Given the description of an element on the screen output the (x, y) to click on. 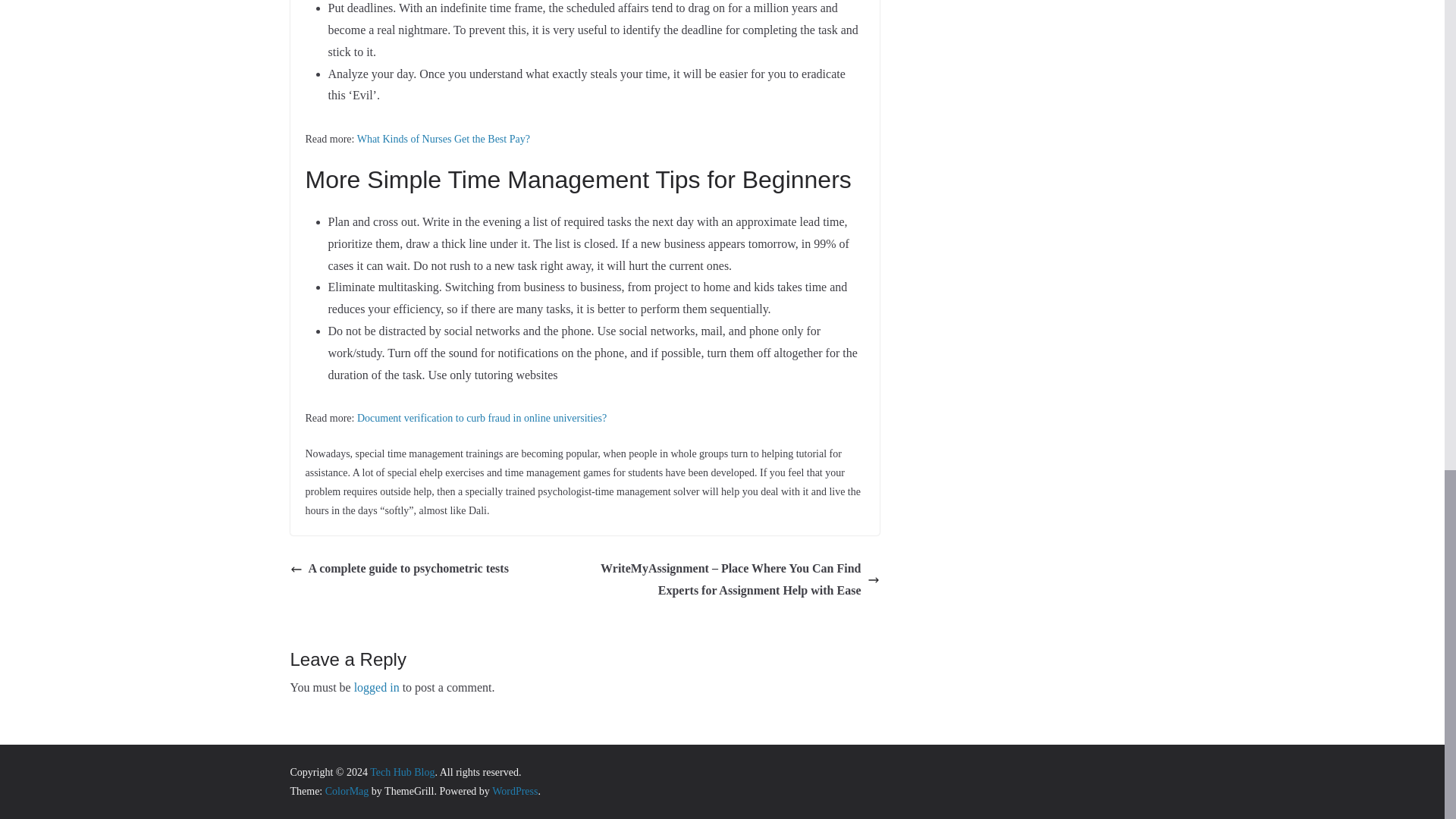
What Kinds of Nurses Get the Best Pay? (442, 138)
ColorMag (346, 790)
Tech Hub Blog (401, 772)
What Kinds of Nurses Get the Best Pay? (442, 138)
WordPress (514, 790)
Document verification to curb fraud in online universities? (481, 418)
Document verification to curb fraud in online universities? (481, 418)
logged in (375, 686)
A complete guide to psychometric tests (398, 568)
